Given the description of an element on the screen output the (x, y) to click on. 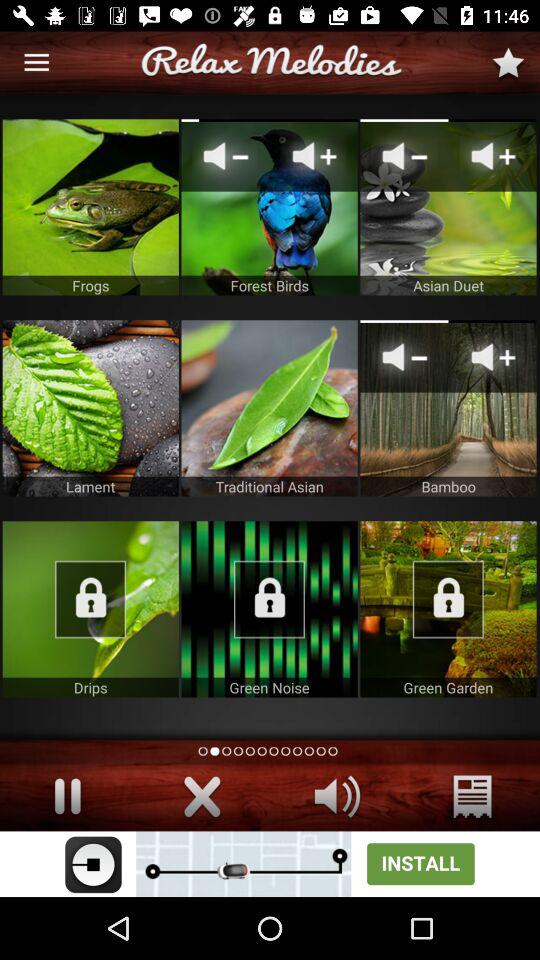
go to frogs (90, 207)
